Given the description of an element on the screen output the (x, y) to click on. 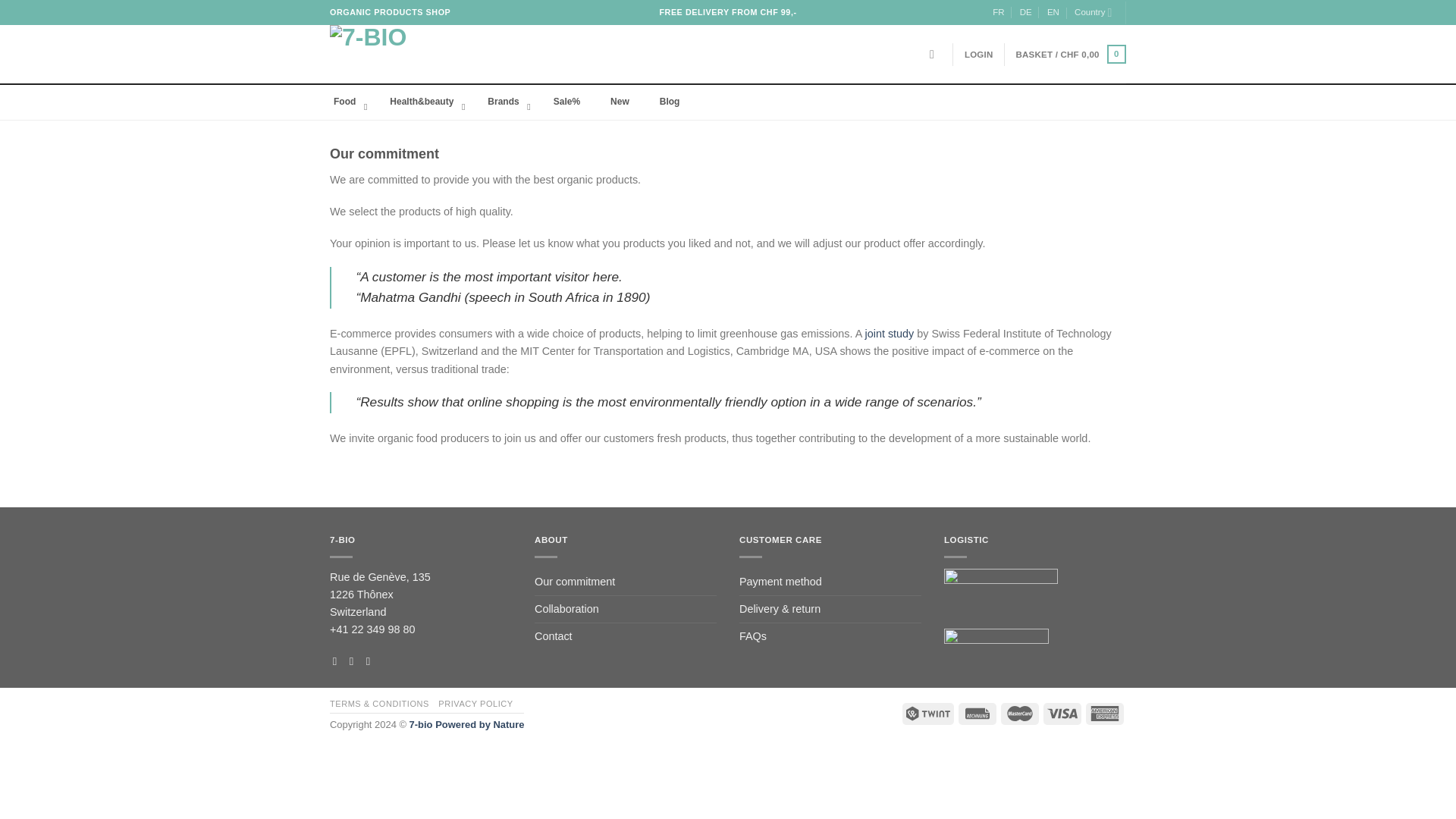
LOGIN (977, 53)
Follow on Facebook (338, 661)
Basket (1071, 53)
7-bio - Organic product store (405, 54)
Country (1093, 12)
Login (977, 53)
Follow on Twitter (371, 661)
Follow on Instagram (355, 661)
